Given the description of an element on the screen output the (x, y) to click on. 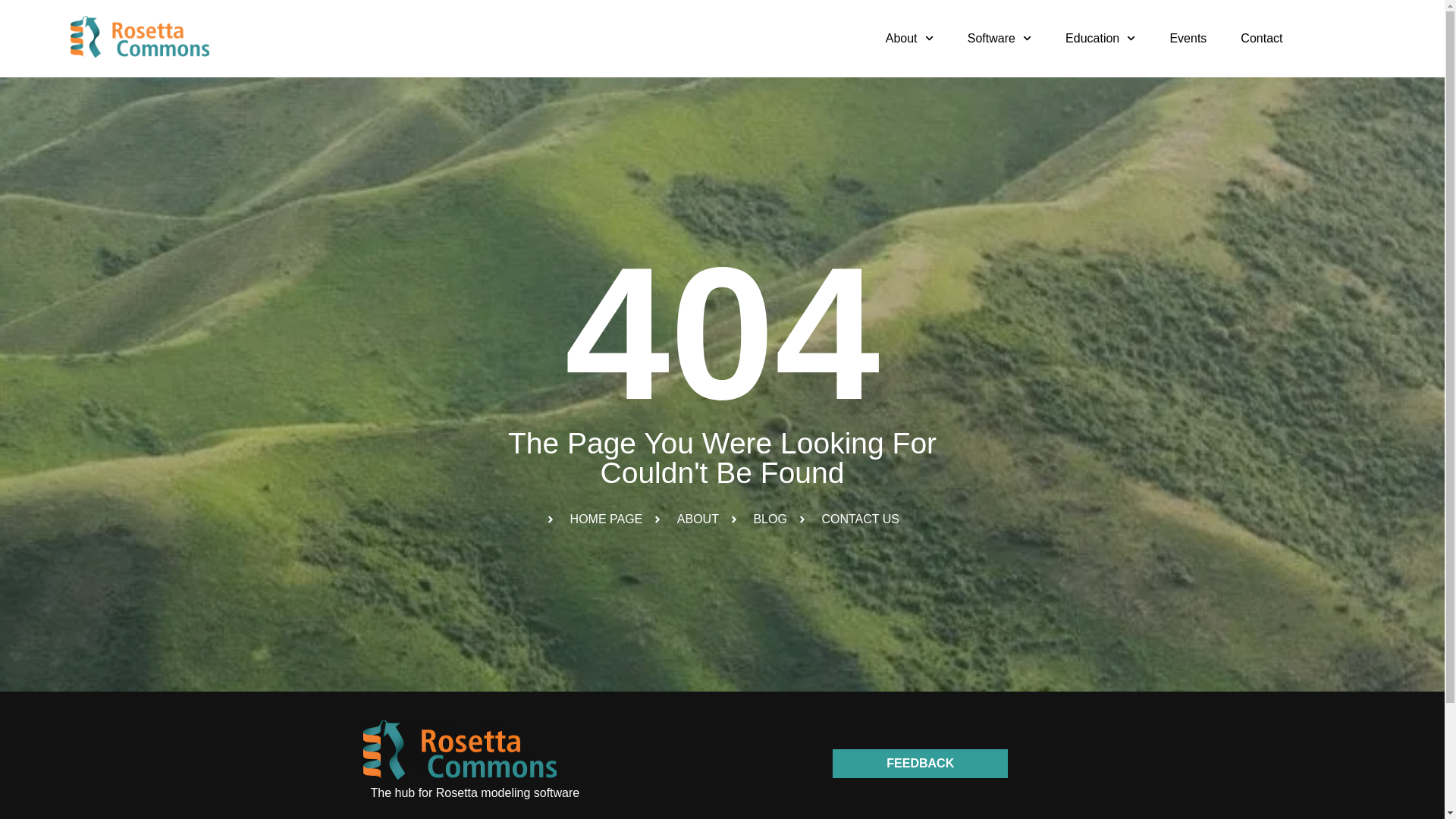
Software (999, 38)
Education (1099, 38)
Contact (1261, 38)
Events (1187, 38)
About (909, 38)
